Given the description of an element on the screen output the (x, y) to click on. 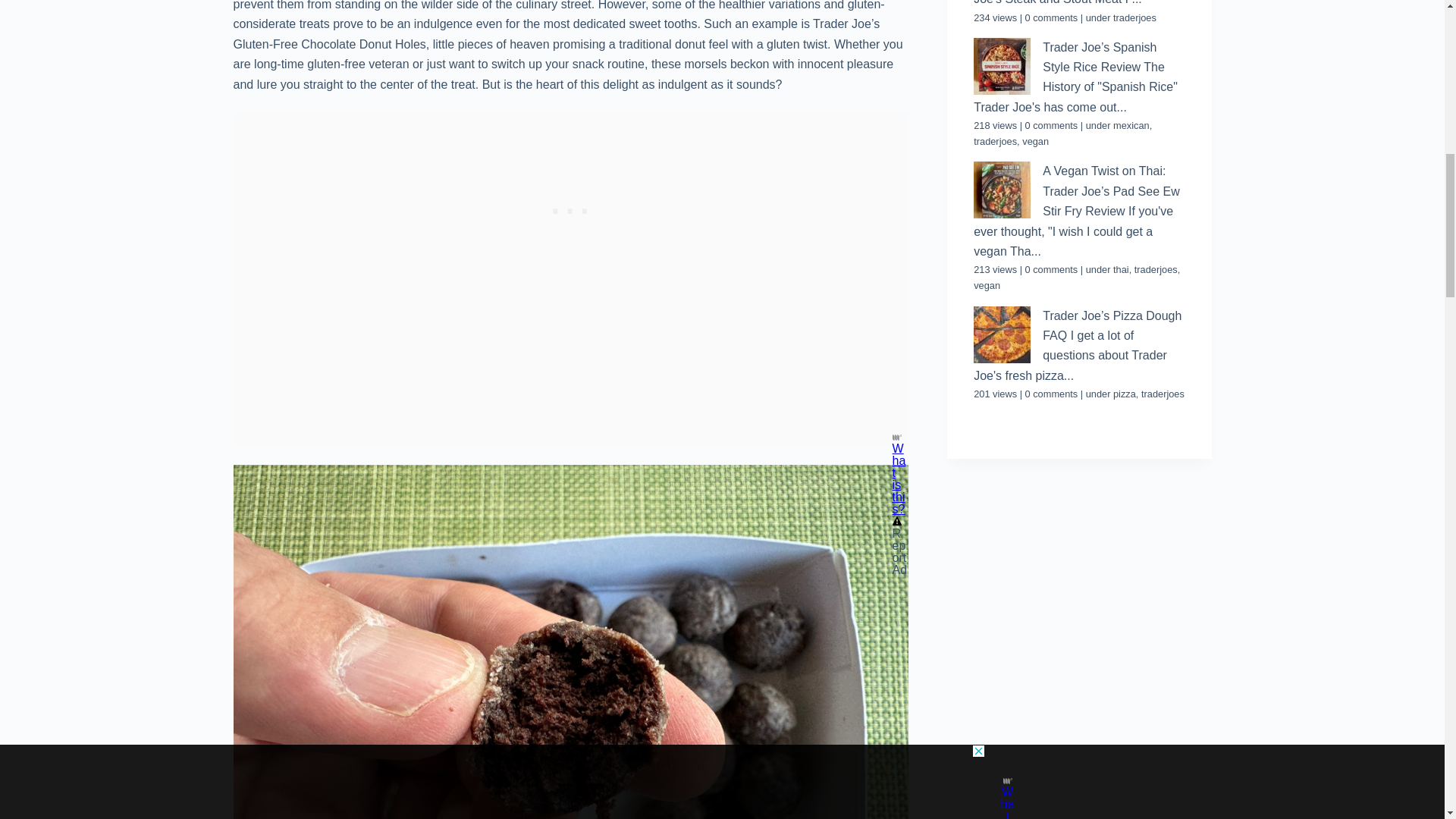
3rd party ad content (1078, 553)
3rd party ad content (570, 207)
